Given the description of an element on the screen output the (x, y) to click on. 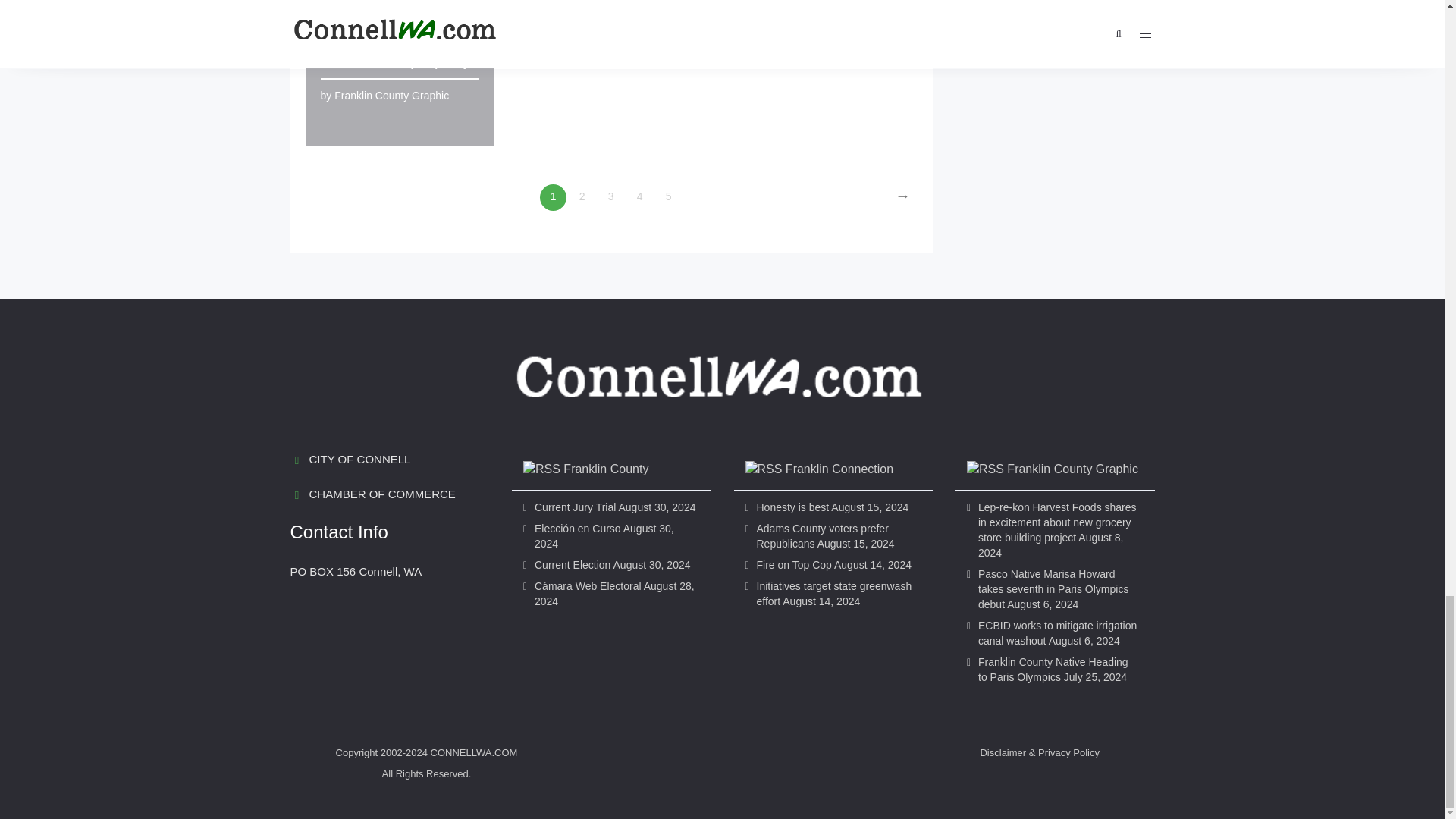
3 (610, 197)
1 (553, 197)
2 (582, 197)
5 (668, 197)
4 (639, 197)
Council authorizes rezone to commercial property (395, 36)
